Given the description of an element on the screen output the (x, y) to click on. 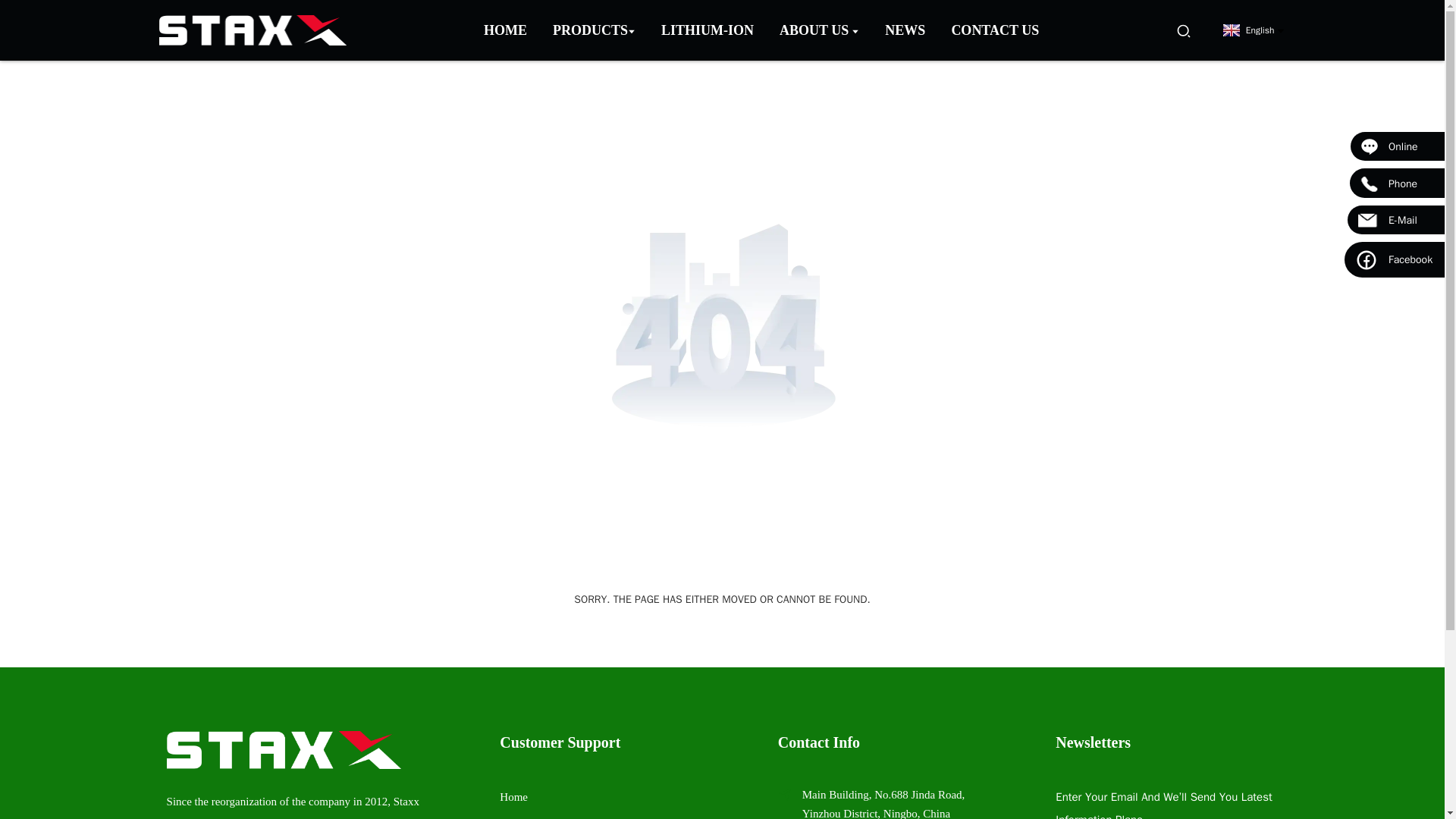
Facebook (1394, 258)
Online (1397, 146)
LITHIUM-ION (707, 30)
NEWS (905, 30)
products (594, 30)
E-Mail (1395, 219)
HOME (504, 30)
search (1183, 29)
News (905, 30)
Lithium-ion (707, 30)
CONTACT US (995, 30)
PRODUCTS (594, 30)
Products (519, 818)
Contact Us (995, 30)
Home (504, 30)
